Given the description of an element on the screen output the (x, y) to click on. 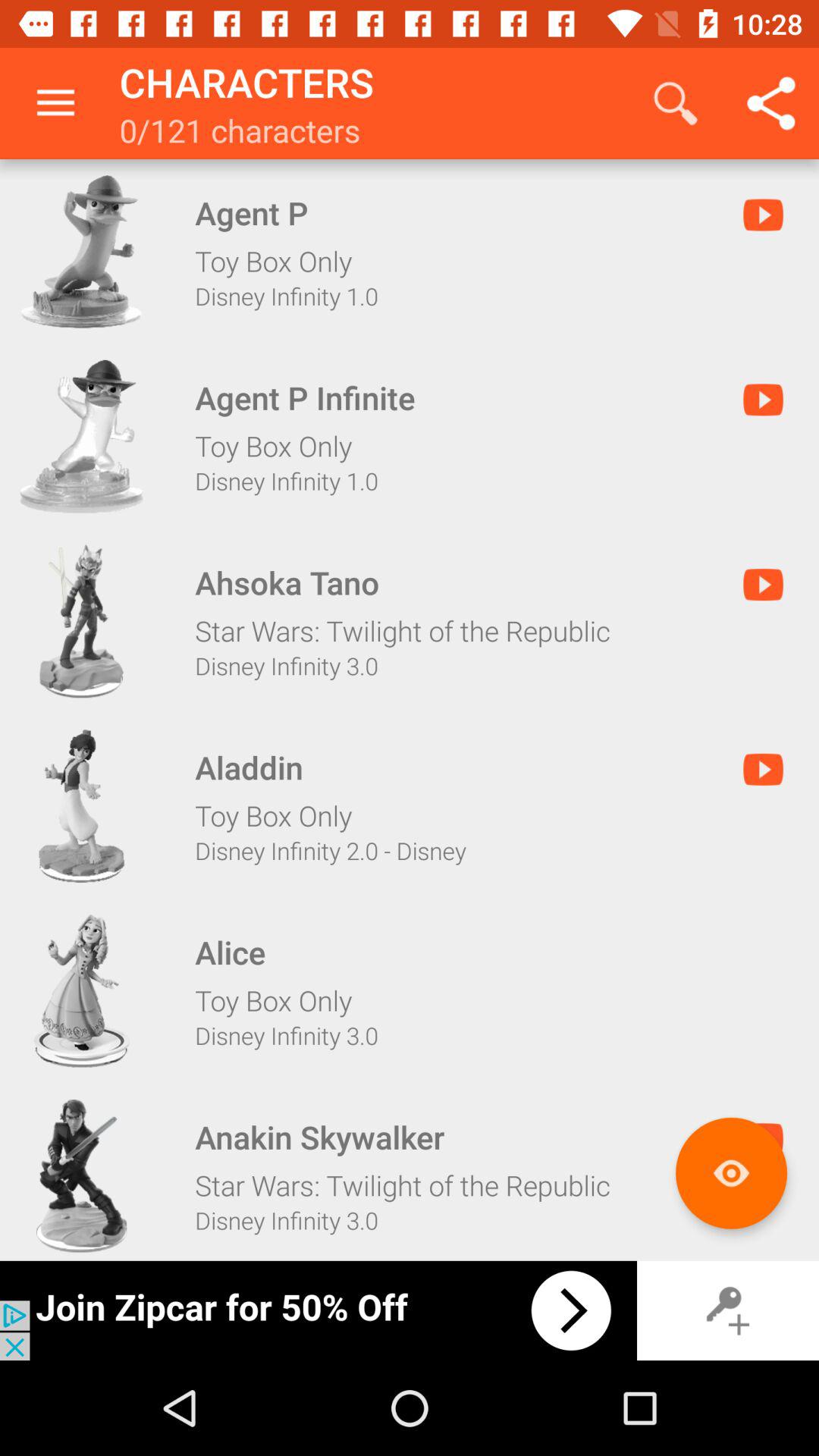
go to aladdin page (81, 805)
